Given the description of an element on the screen output the (x, y) to click on. 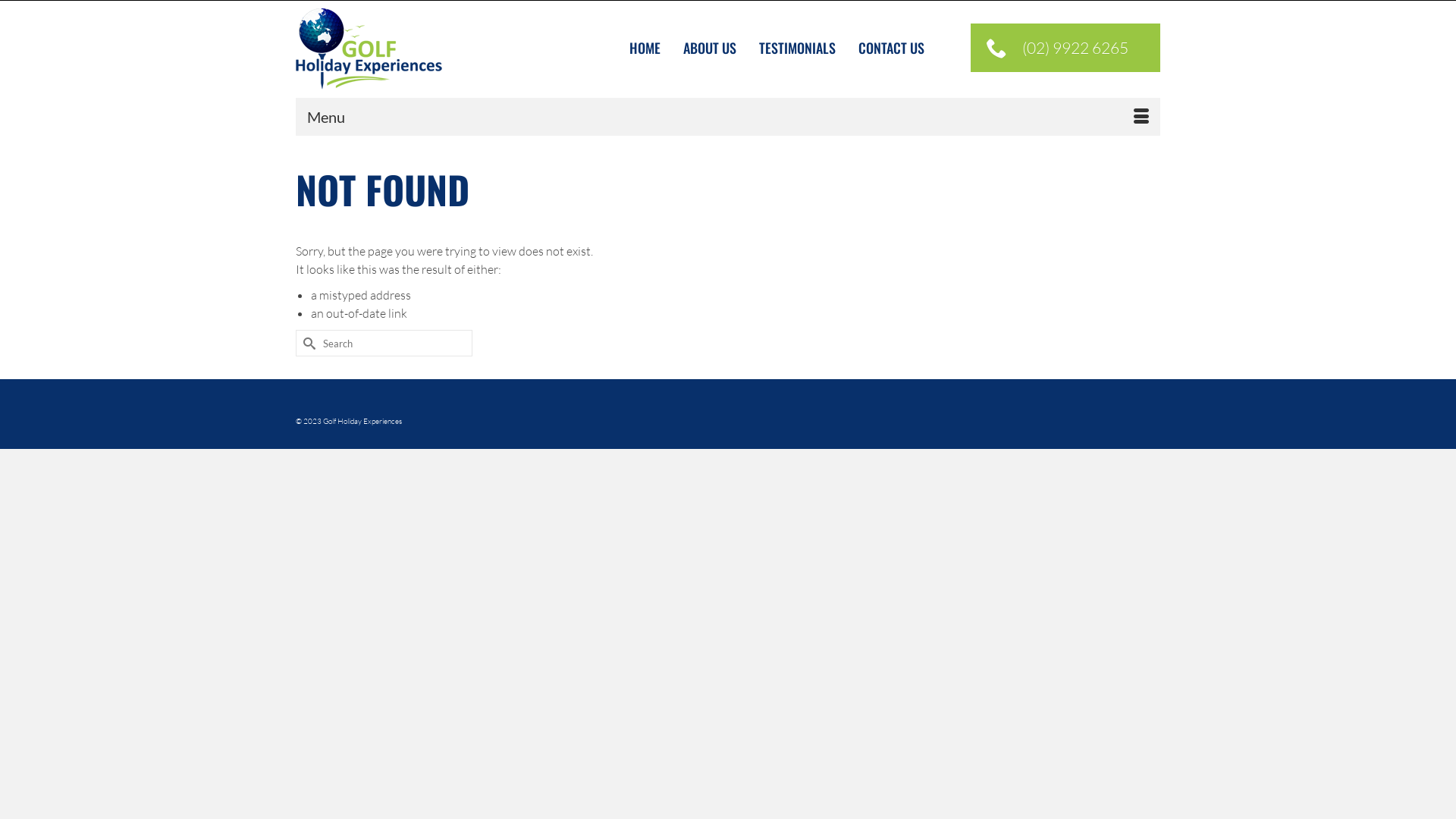
Golf Holiday Experiences Element type: hover (431, 48)
ABOUT US Element type: text (709, 47)
HOME Element type: text (644, 47)
CONTACT US Element type: text (891, 47)
TESTIMONIALS Element type: text (797, 47)
Menu Element type: text (727, 116)
(02) 9922 6265 Element type: text (1065, 47)
